Given the description of an element on the screen output the (x, y) to click on. 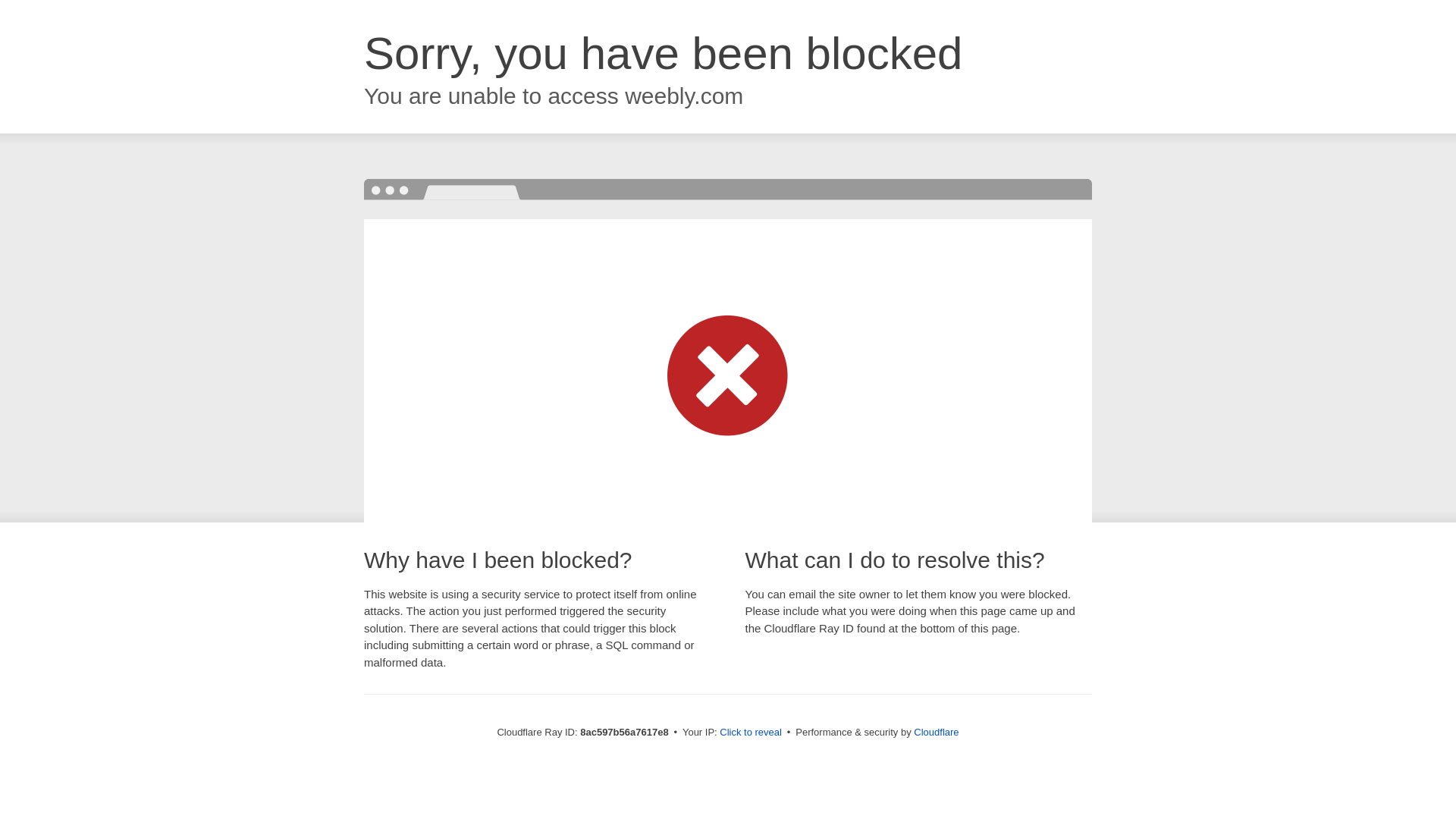
Click to reveal (750, 732)
Cloudflare (936, 731)
